Given the description of an element on the screen output the (x, y) to click on. 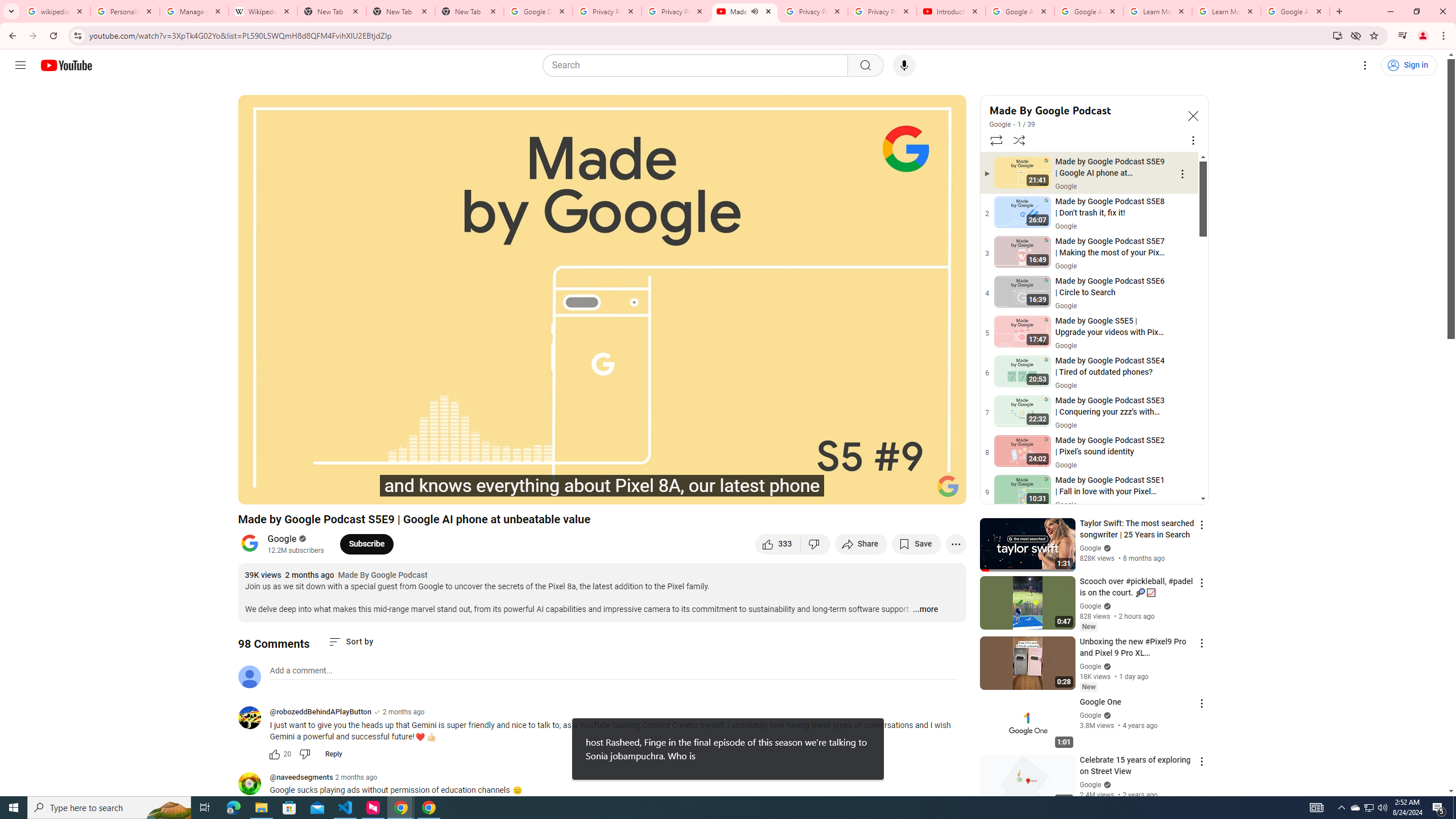
Introduction | Google Privacy Policy - YouTube (950, 11)
Personalization & Google Search results - Google Search Help (124, 11)
New Tab (469, 11)
Guide (20, 65)
@robozeddBehindAPlayButton (253, 717)
Google Account Help (1088, 11)
